Given the description of an element on the screen output the (x, y) to click on. 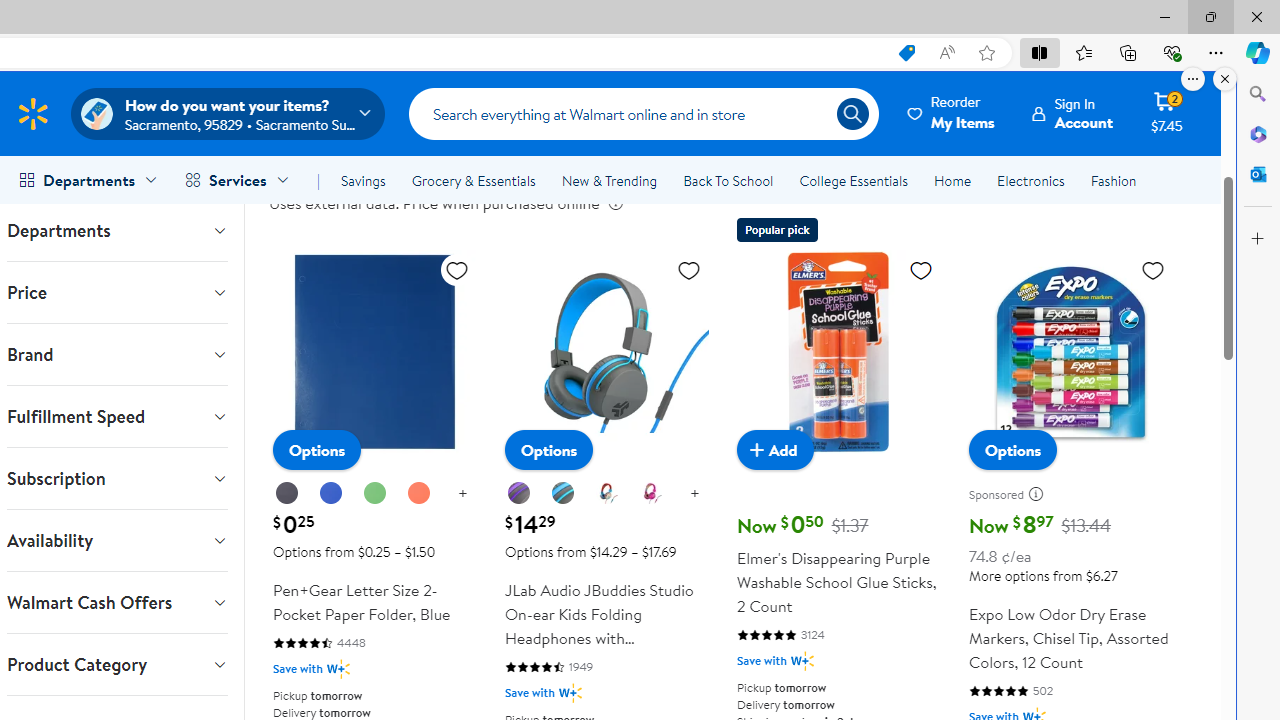
Reorder My Items (952, 113)
Electronics (1030, 180)
Orange (418, 494)
Favorites (1083, 52)
Back To School (728, 180)
Multicolor (606, 493)
Graphite Purple (519, 494)
Grocery & Essentials (473, 180)
Copilot (Ctrl+Shift+.) (1258, 52)
Close Outlook pane (1258, 174)
Search (644, 113)
show more color options (694, 494)
